Given the description of an element on the screen output the (x, y) to click on. 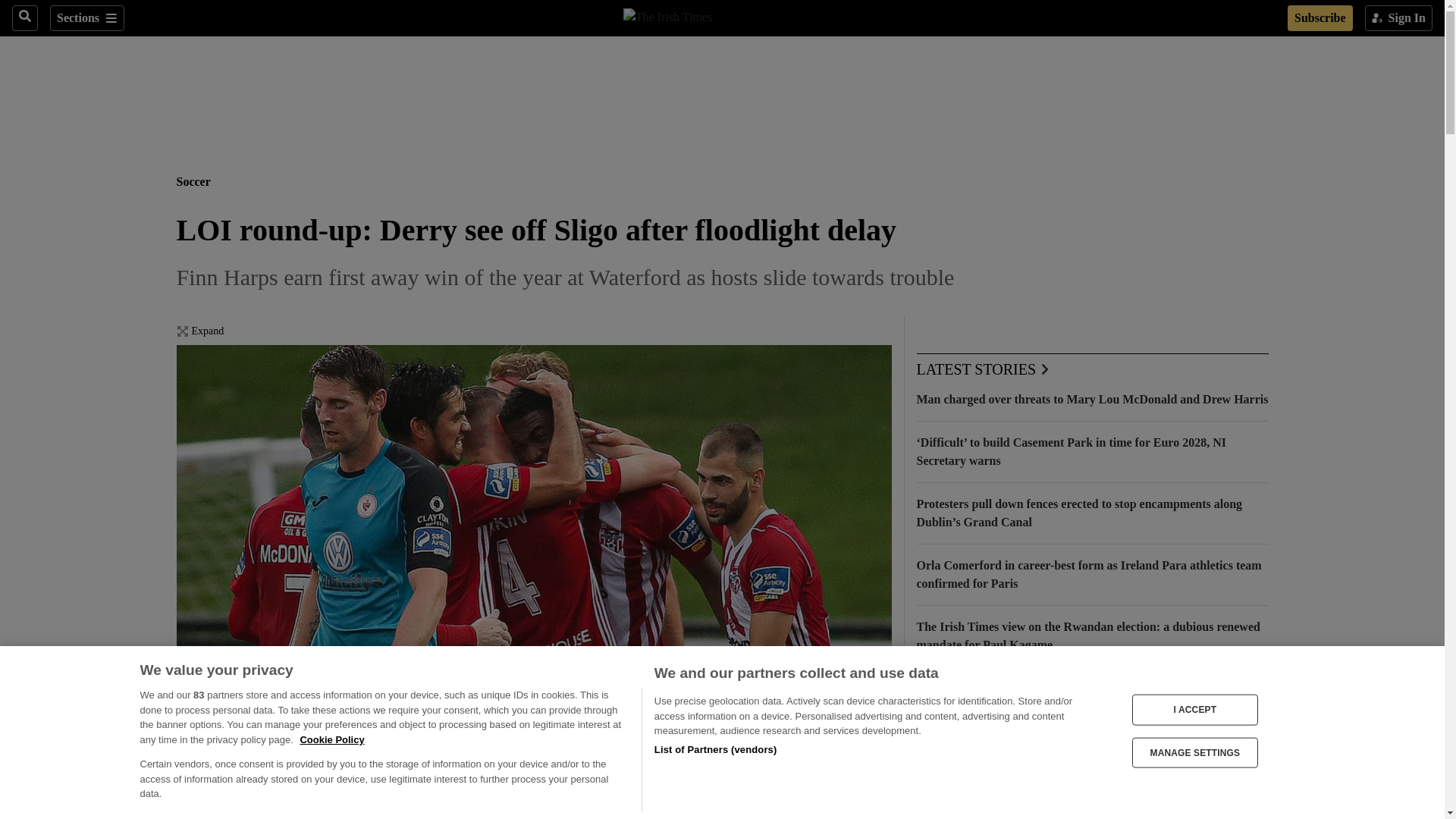
X (215, 815)
Facebook (184, 815)
Subscribe (1319, 17)
Sign In (1398, 17)
Sections (86, 17)
WhatsApp (244, 815)
The Irish Times (667, 15)
